Given the description of an element on the screen output the (x, y) to click on. 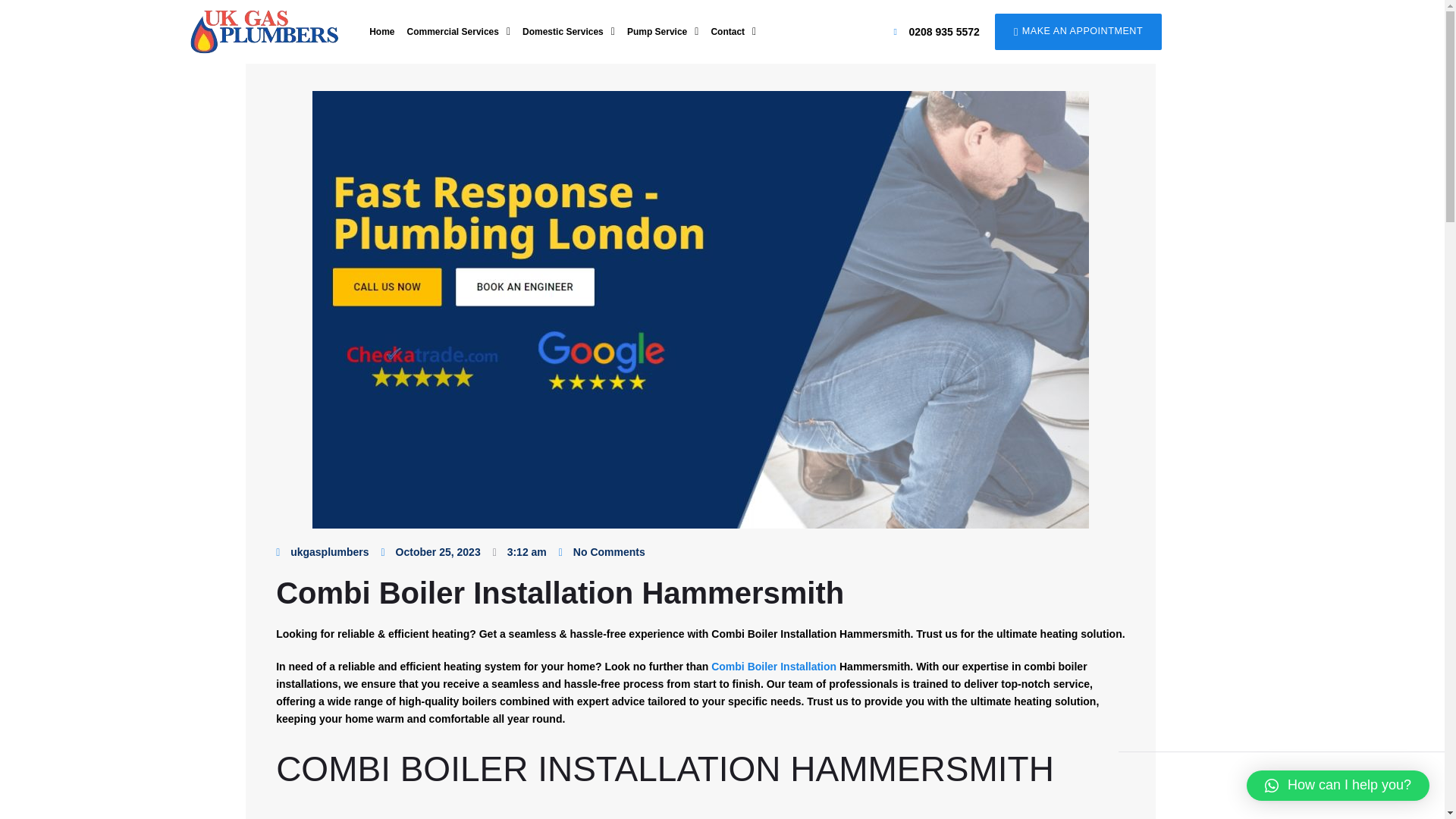
Domestic Services (568, 31)
Combi Boiler Installation Holborn (773, 666)
Airlock In Hot Water System (778, 818)
Home (381, 31)
Commercial Services (458, 31)
